Given the description of an element on the screen output the (x, y) to click on. 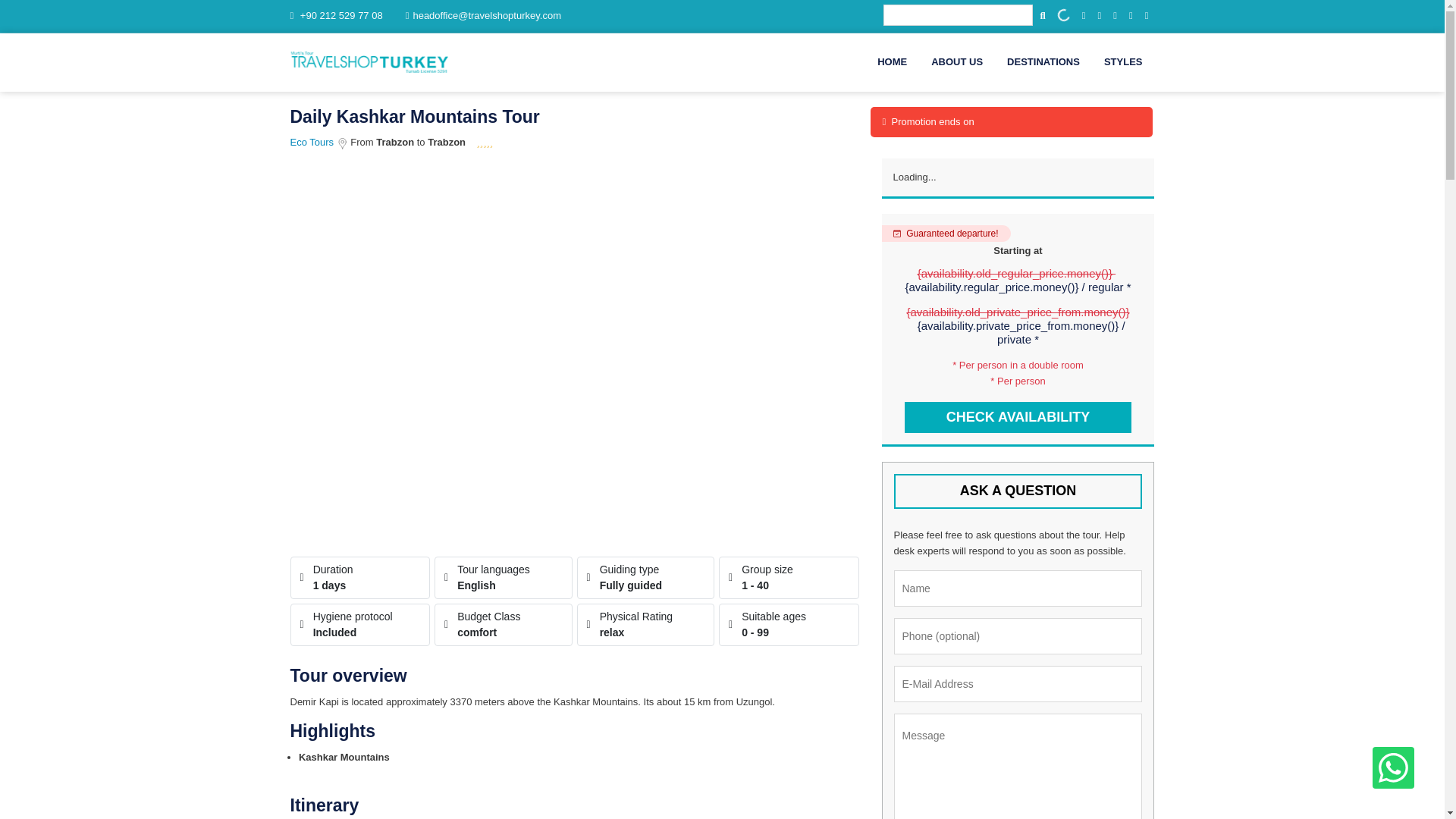
Rated 5 out of 5 (484, 142)
DESTINATIONS (1043, 62)
Eco Tours (312, 142)
CHECK AVAILABILITY (1017, 418)
Created with Sketch. (341, 143)
